Given the description of an element on the screen output the (x, y) to click on. 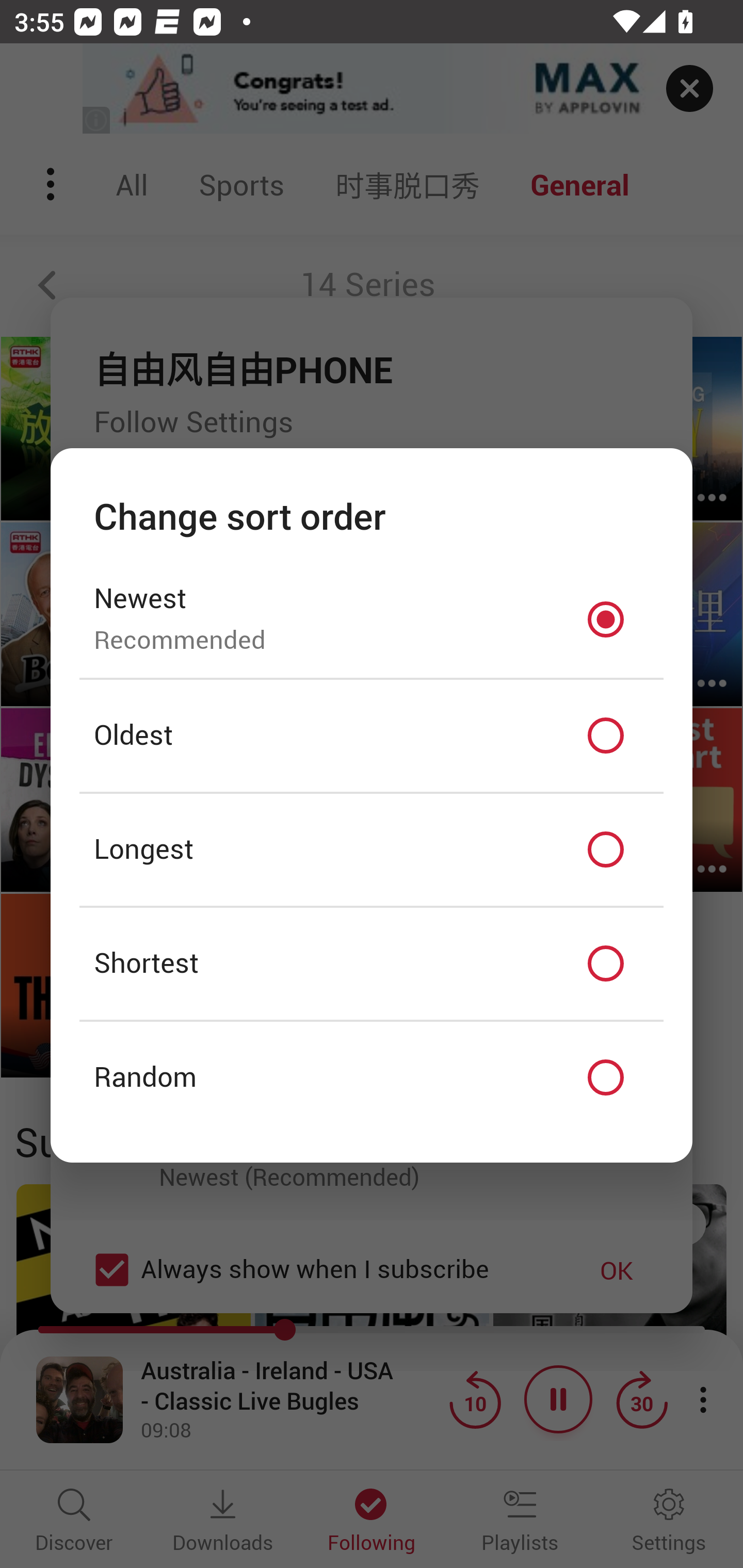
Newest Recommended (371, 619)
Oldest (371, 735)
Longest (371, 849)
Shortest (371, 963)
Random (371, 1077)
